Given the description of an element on the screen output the (x, y) to click on. 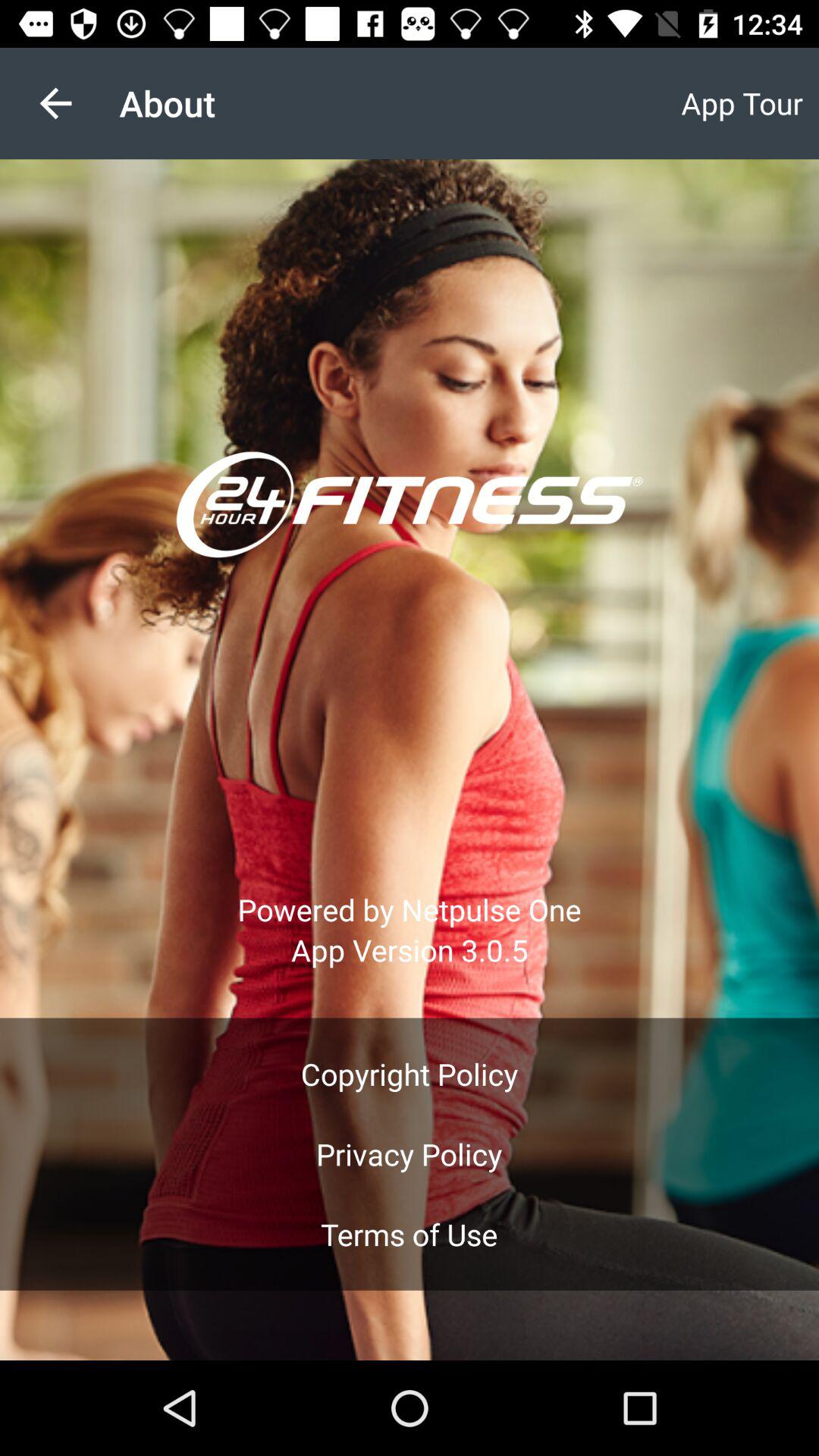
turn on the icon below the copyright policy item (409, 1154)
